Given the description of an element on the screen output the (x, y) to click on. 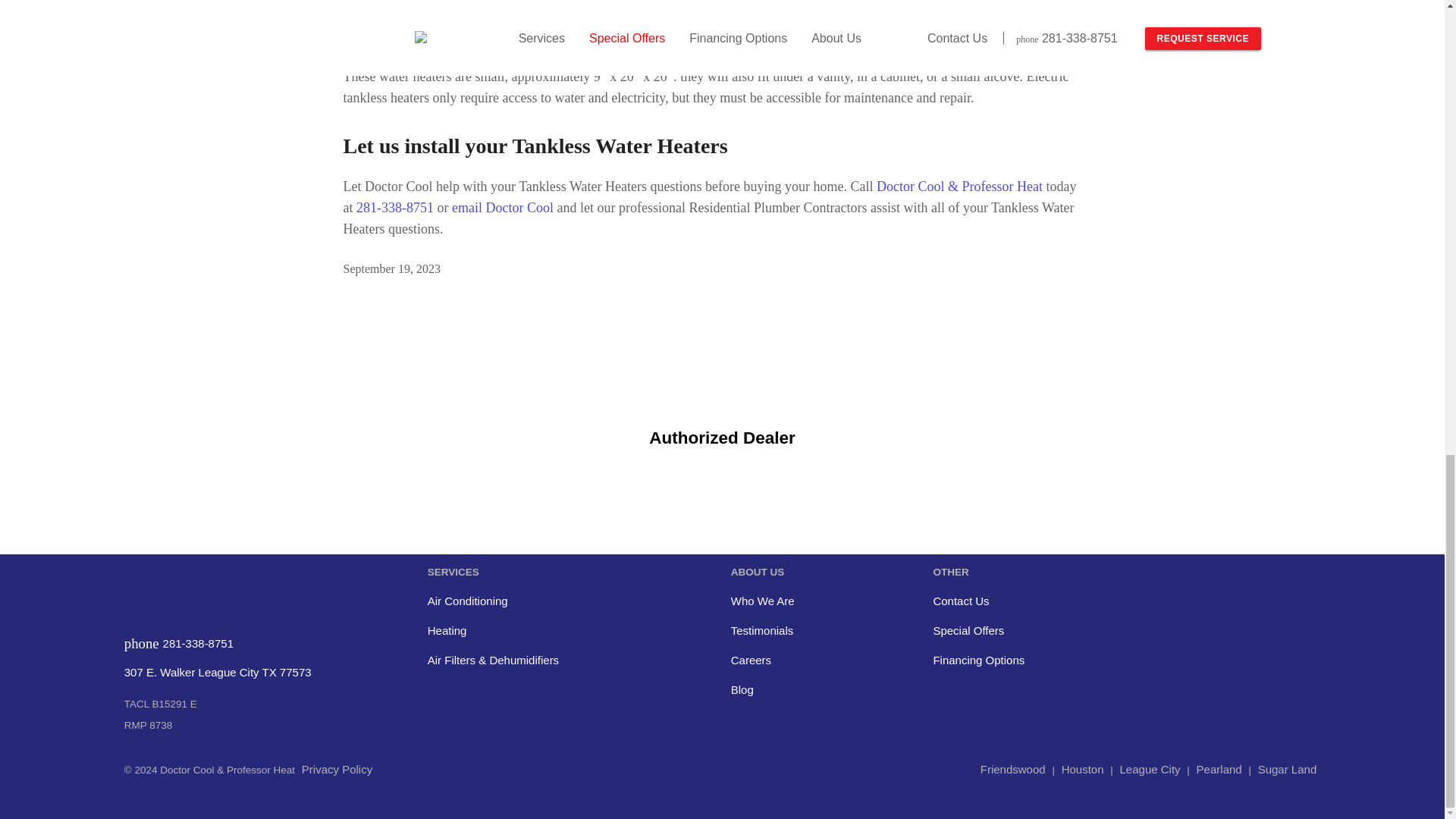
email Doctor Cool (502, 207)
281-338-8751 (394, 207)
